Given the description of an element on the screen output the (x, y) to click on. 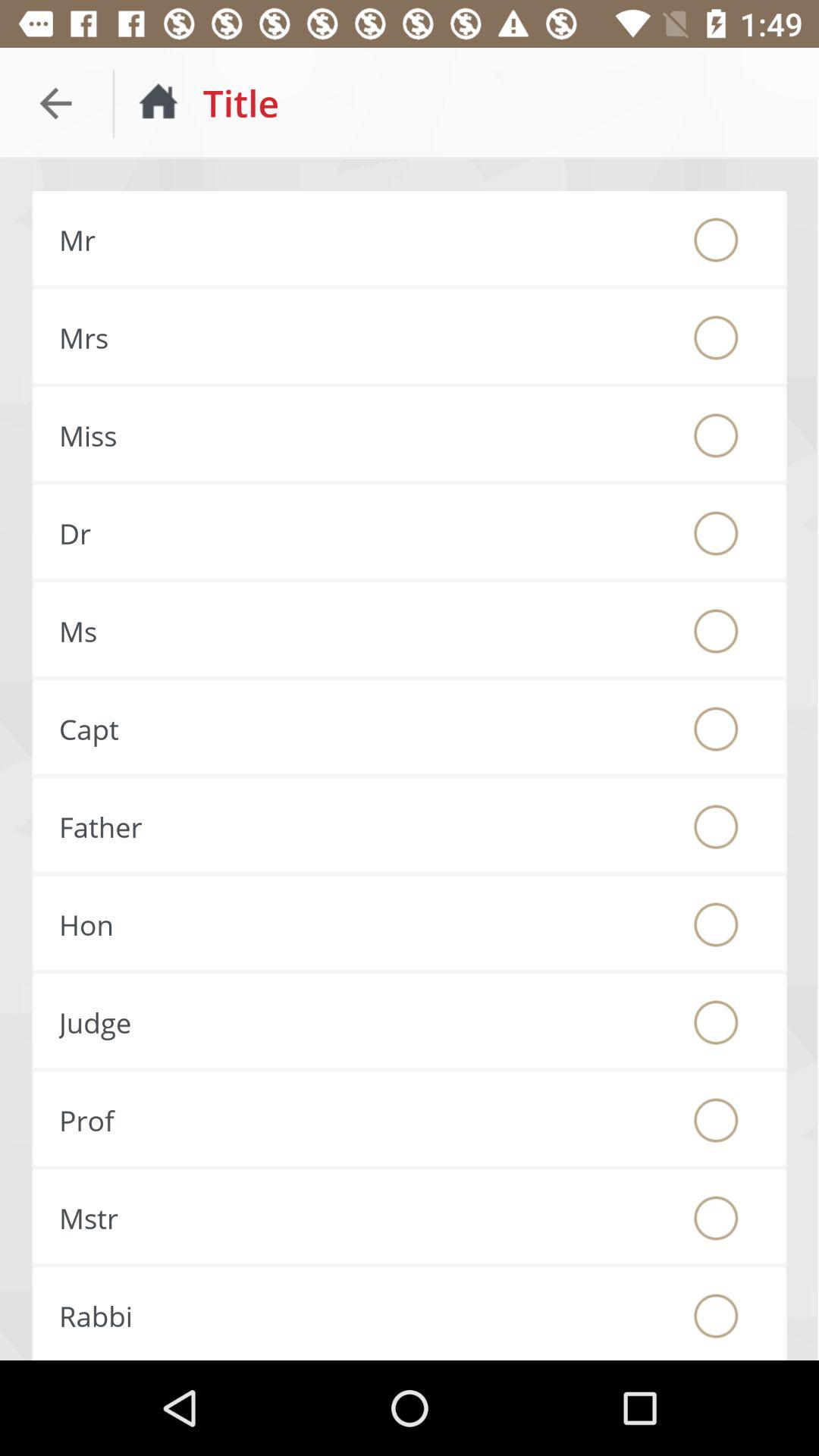
mrs. title (715, 337)
